Given the description of an element on the screen output the (x, y) to click on. 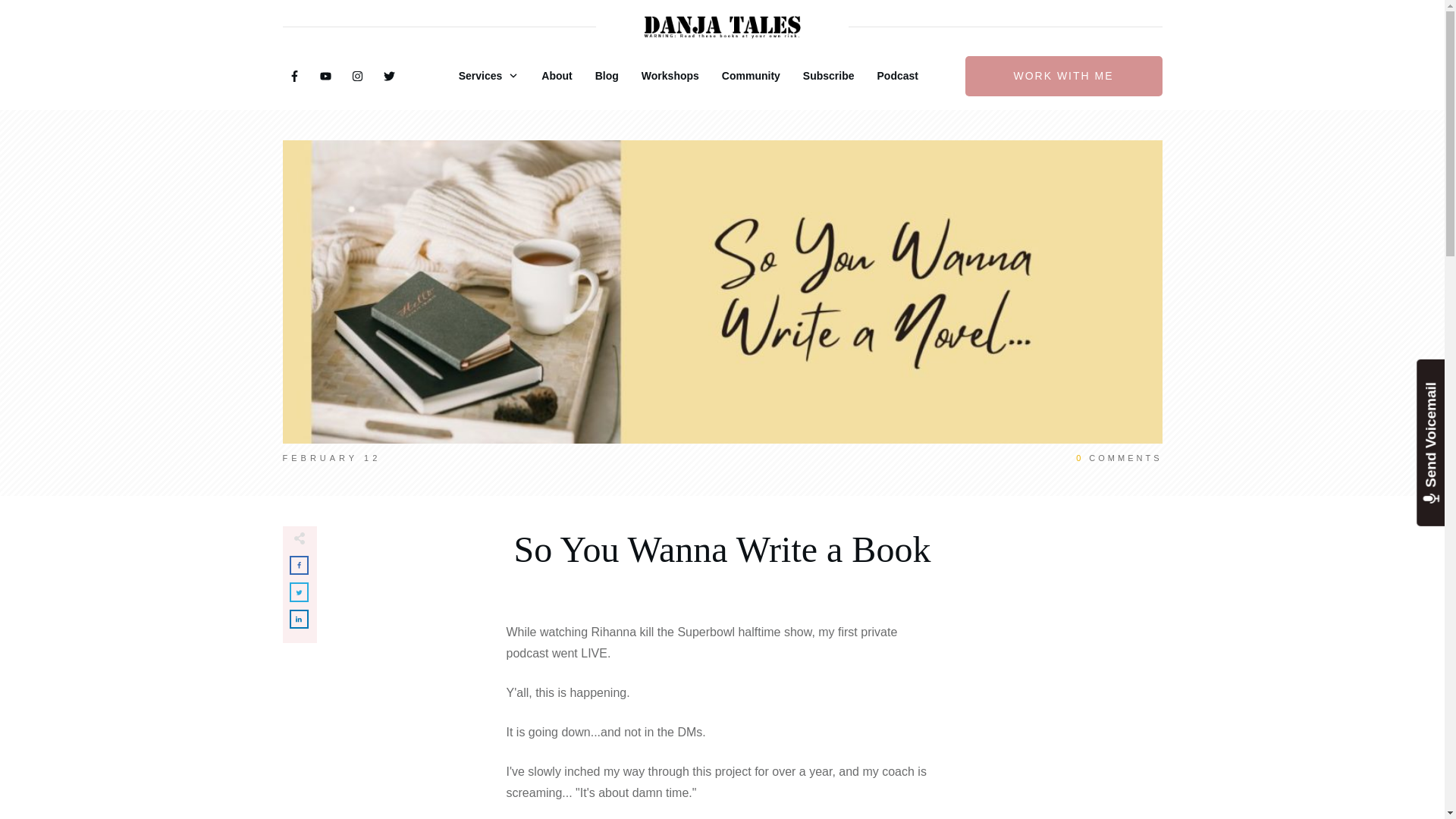
WORK WITH ME (1063, 76)
Podcast (897, 75)
Blog (606, 75)
About (556, 75)
Services (488, 75)
Workshops (670, 75)
Subscribe (828, 75)
Community (751, 75)
